Given the description of an element on the screen output the (x, y) to click on. 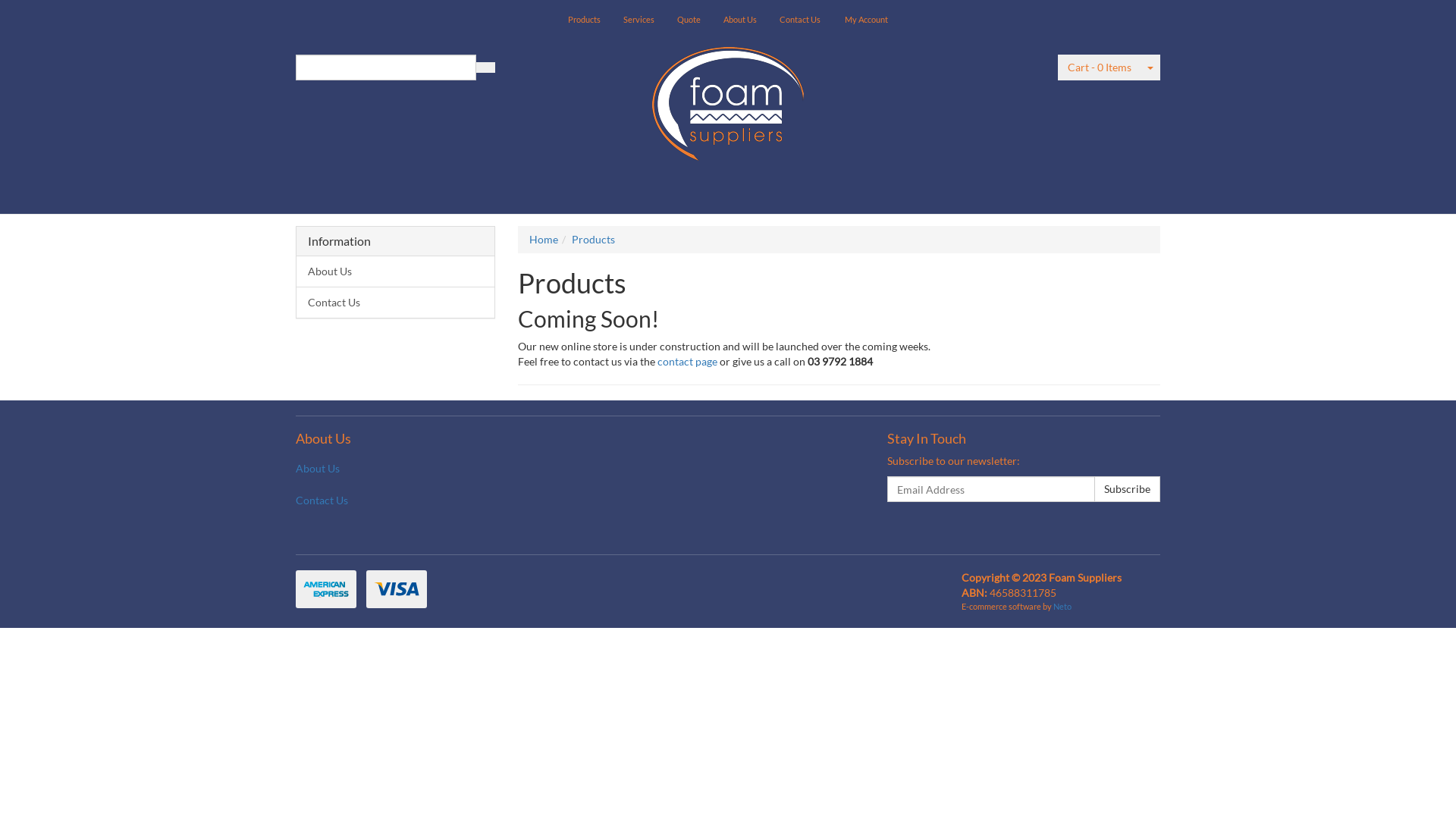
Subscribe Element type: text (1127, 489)
Contact Us Element type: text (395, 301)
Search Element type: text (484, 67)
Contact Us Element type: text (377, 500)
Quote Element type: text (688, 19)
Products Element type: text (583, 19)
Products Element type: text (593, 238)
About Us Element type: text (395, 271)
Neto Element type: text (1061, 606)
About Us Element type: text (740, 19)
Contact Us Element type: text (799, 19)
About Us Element type: text (377, 468)
Services Element type: text (638, 19)
Home Element type: text (543, 238)
Foam Suppliers Element type: hover (727, 98)
contact page Element type: text (686, 360)
Cart - 0 Items Element type: text (1099, 67)
My Account Element type: text (866, 19)
